Given the description of an element on the screen output the (x, y) to click on. 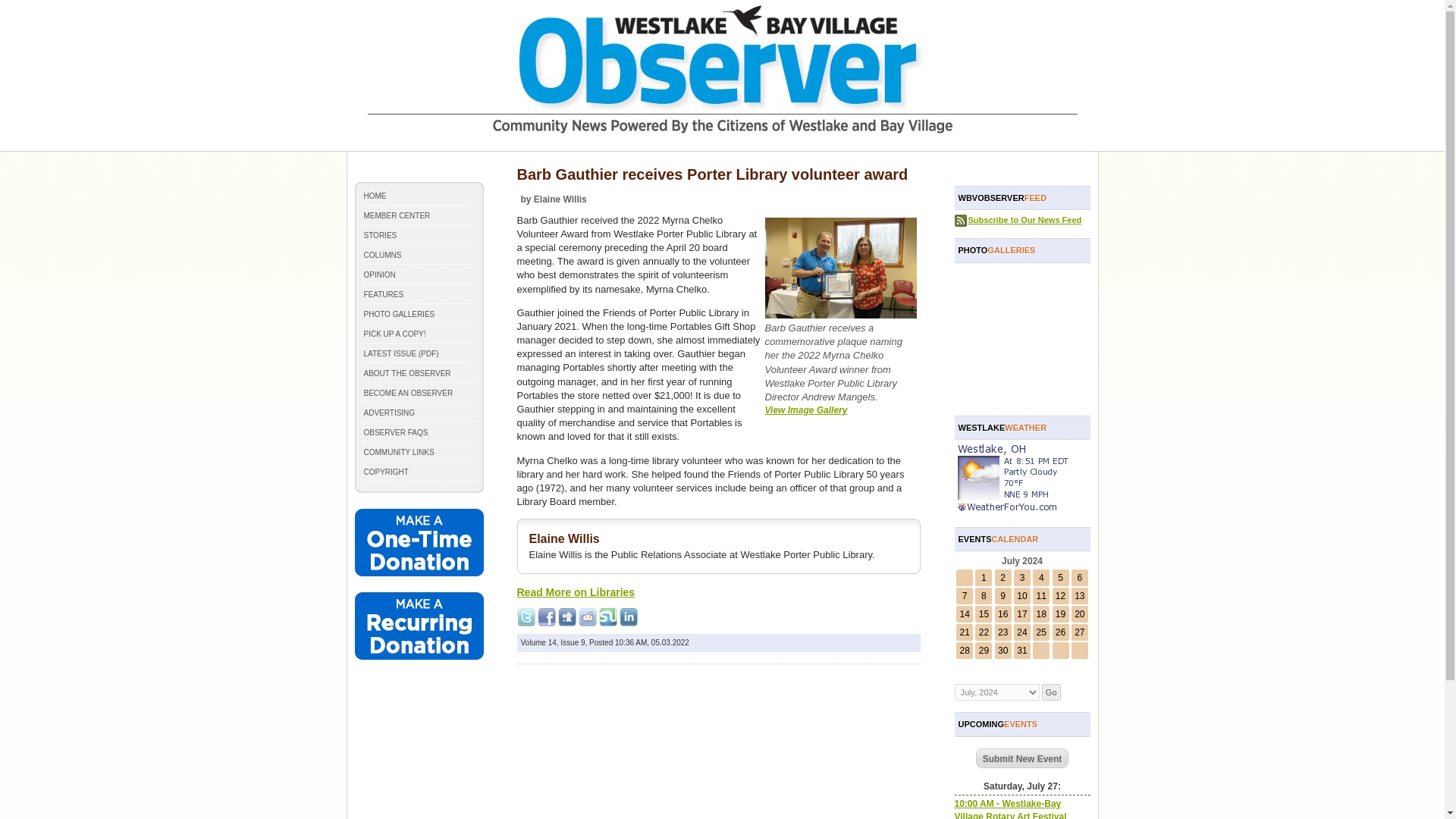
Share on Twitter (525, 617)
23 (1002, 632)
View Image Gallery (805, 409)
16 (1002, 614)
24 (1021, 632)
21 (964, 632)
Subscribe to Our News Feed (1024, 219)
13 (1079, 595)
27 (1079, 632)
Share on LinkedIn (627, 617)
Share on Reddit (586, 617)
22 (983, 632)
18 (1041, 614)
Share on Facebook (545, 617)
Share on StumbleUpon (607, 617)
